Given the description of an element on the screen output the (x, y) to click on. 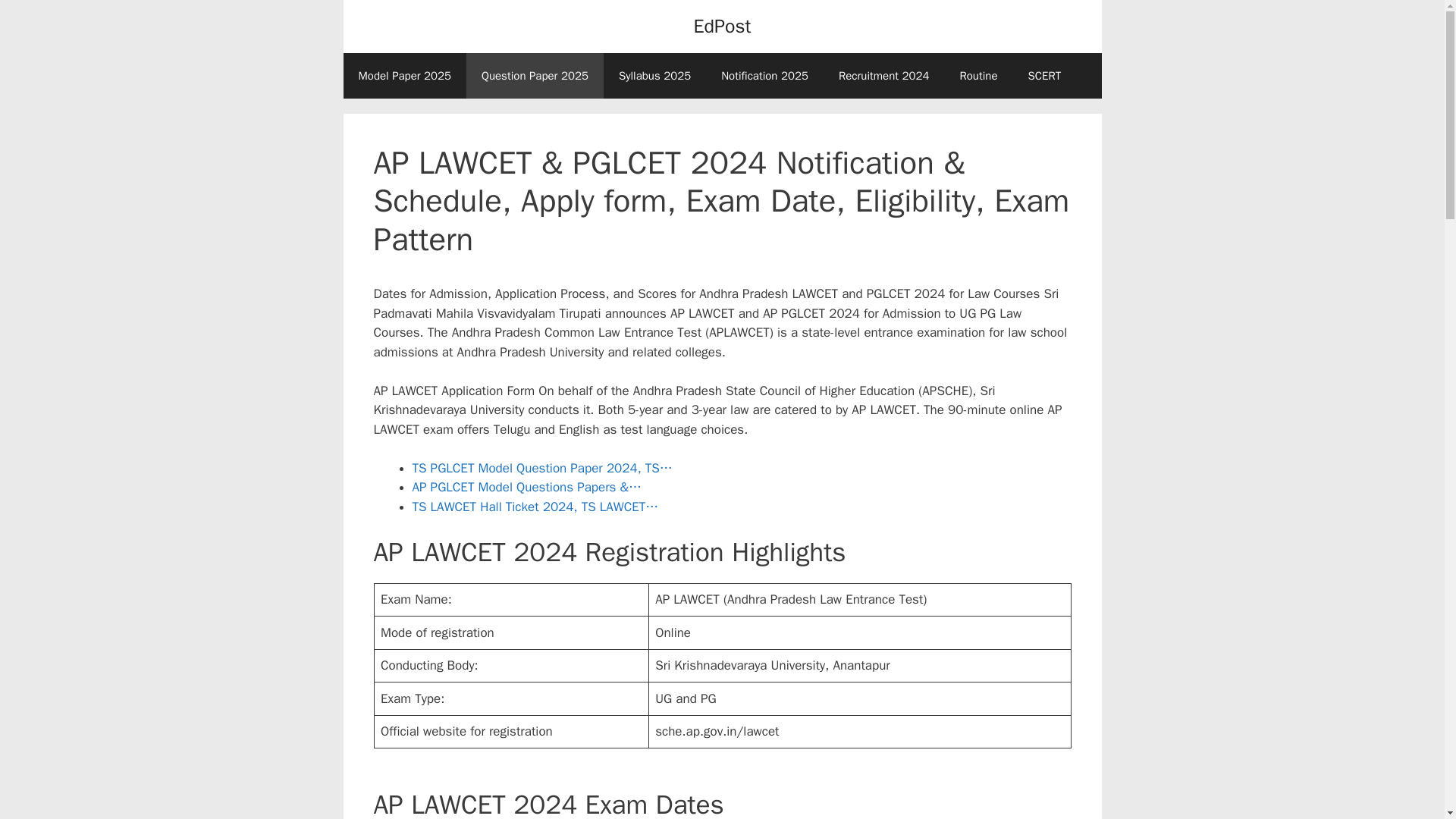
EdPost (722, 25)
Model Paper 2025 (403, 75)
Recruitment 2024 (884, 75)
Routine (977, 75)
Notification 2025 (765, 75)
SCERT (1045, 75)
Syllabus 2025 (655, 75)
Question Paper 2025 (534, 75)
